Given the description of an element on the screen output the (x, y) to click on. 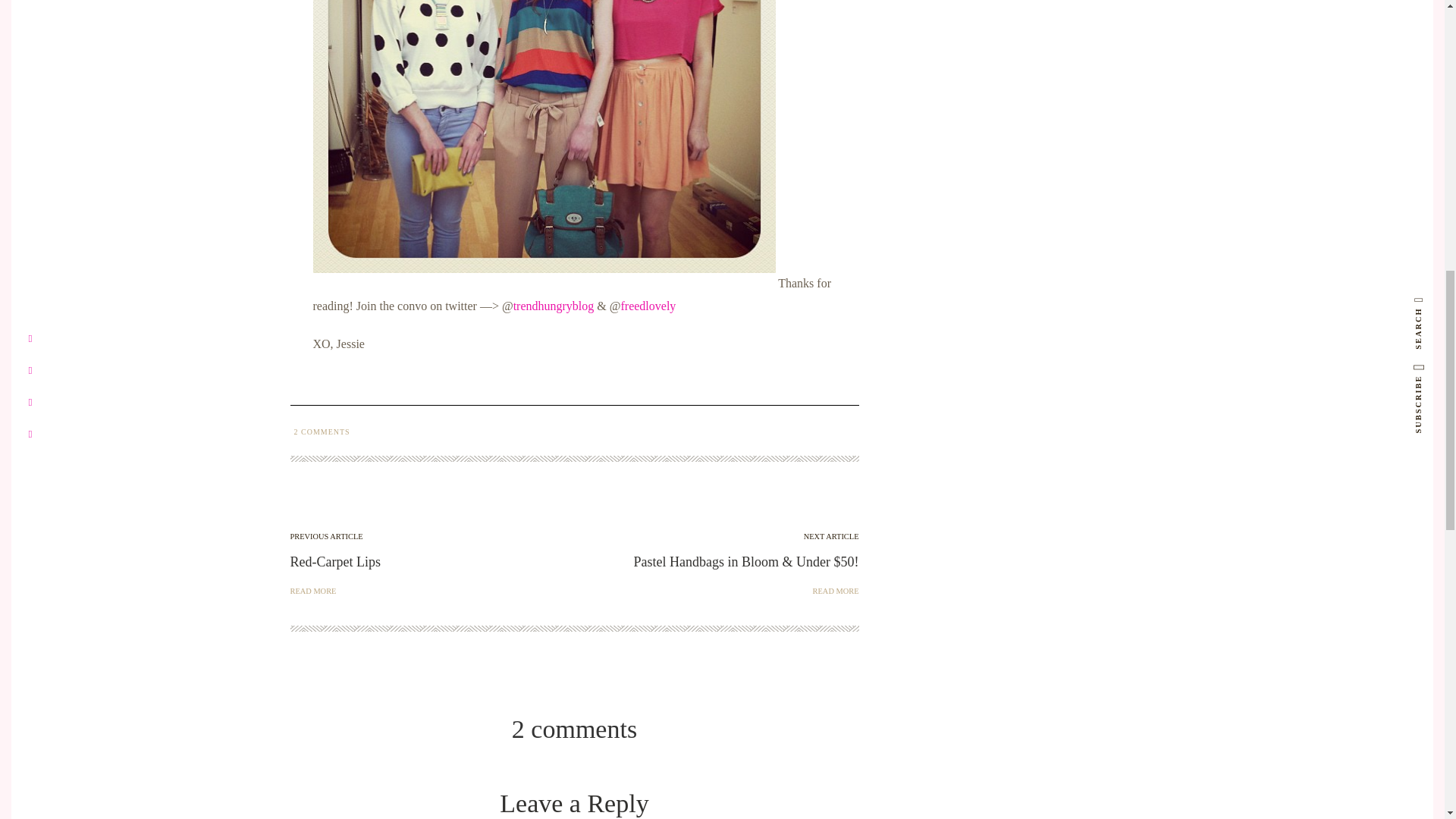
READ MORE (835, 589)
READ MORE (312, 589)
NEXT ARTICLE (831, 534)
PREVIOUS ARTICLE (325, 534)
2 COMMENTS (319, 431)
trendhungryblog (553, 305)
Freed Love Models (543, 136)
Red-Carpet Lips (334, 561)
freedlovely (647, 305)
